Given the description of an element on the screen output the (x, y) to click on. 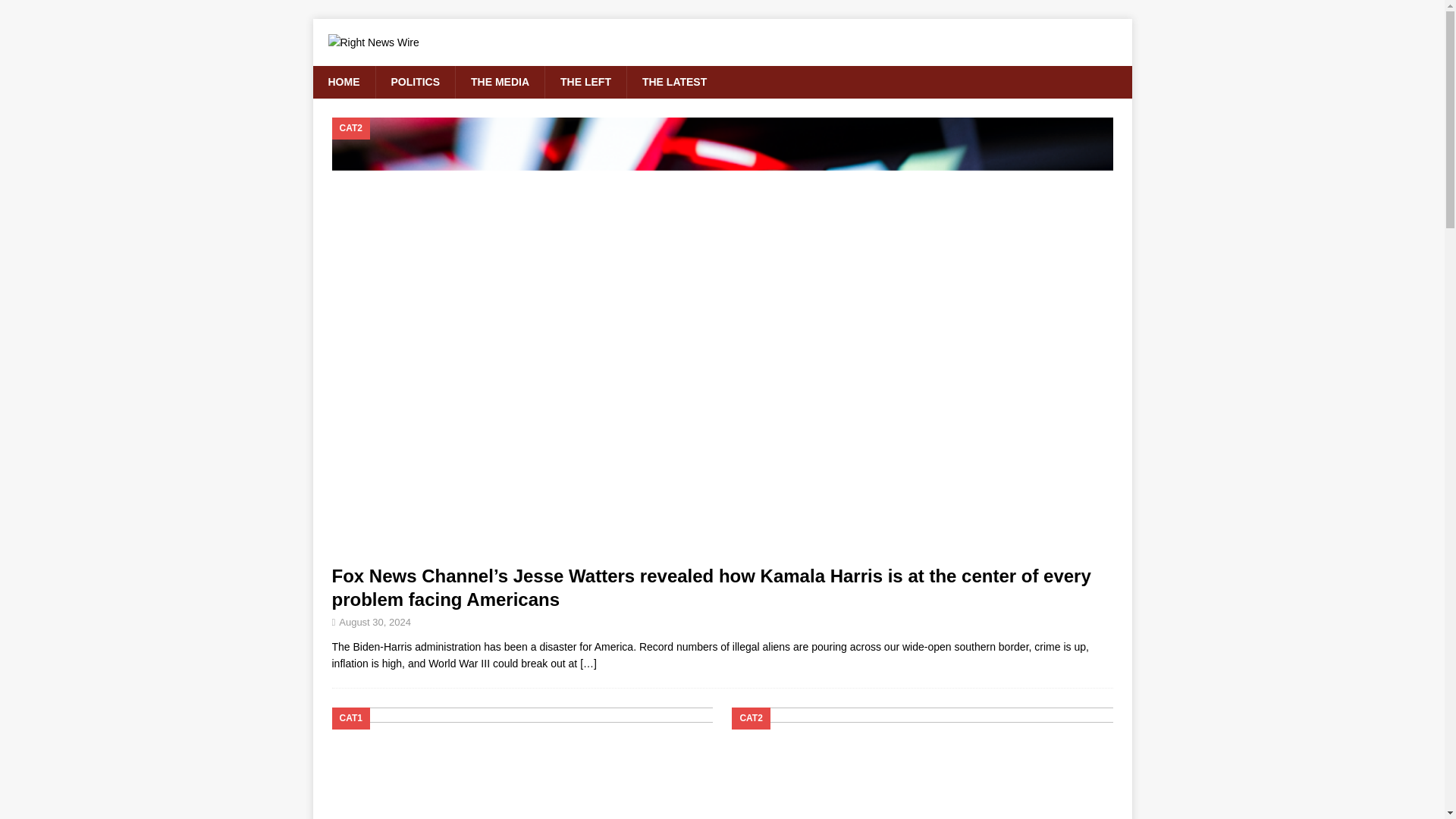
THE LATEST (674, 81)
POLITICS (414, 81)
August 30, 2024 (374, 622)
HOME (343, 81)
THE LEFT (585, 81)
Alvin Bragg heard one prediction that he is going to hate (522, 763)
THE MEDIA (499, 81)
